Given the description of an element on the screen output the (x, y) to click on. 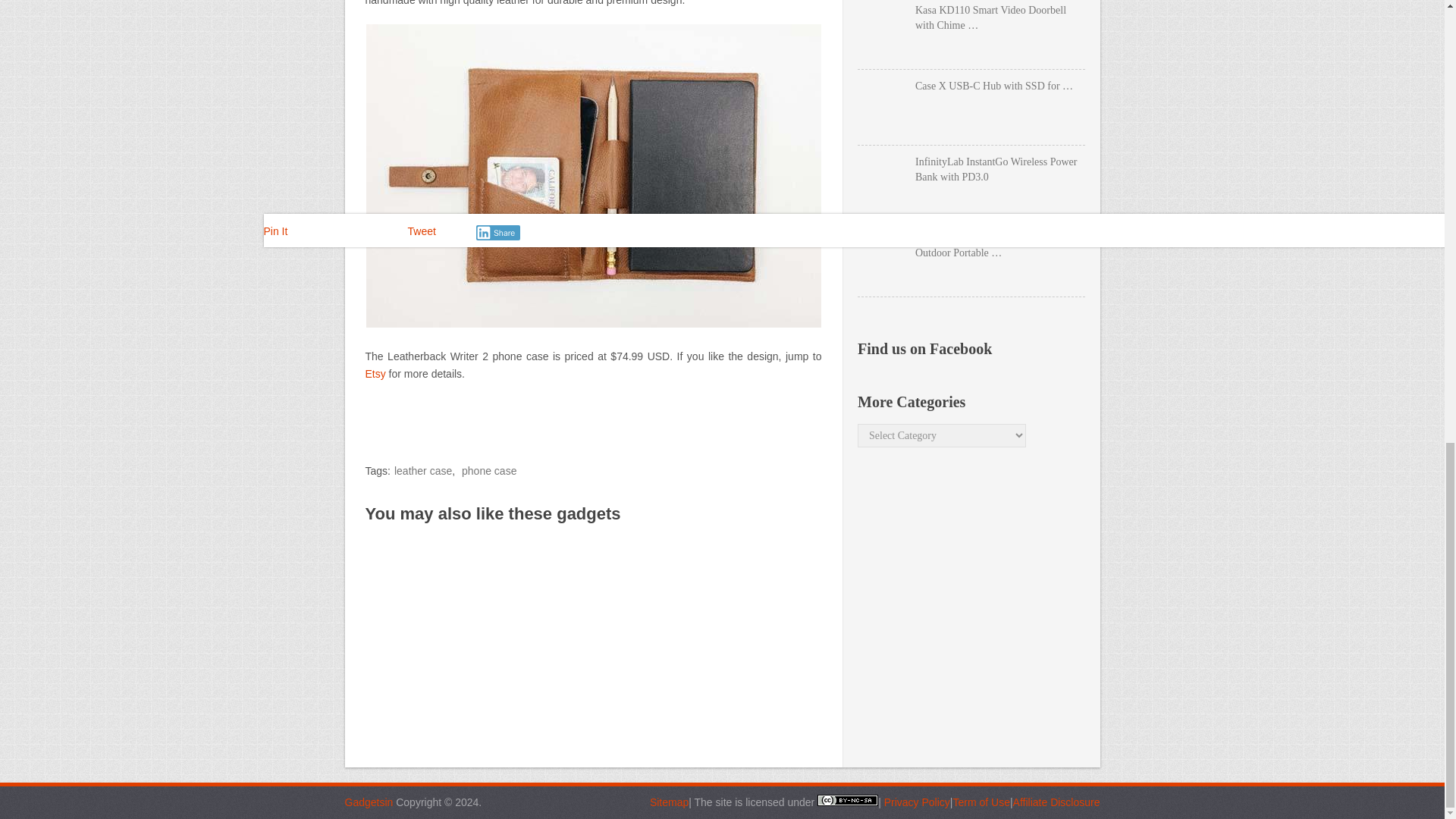
phone case (488, 470)
leather case (422, 470)
Etsy (375, 373)
